Given the description of an element on the screen output the (x, y) to click on. 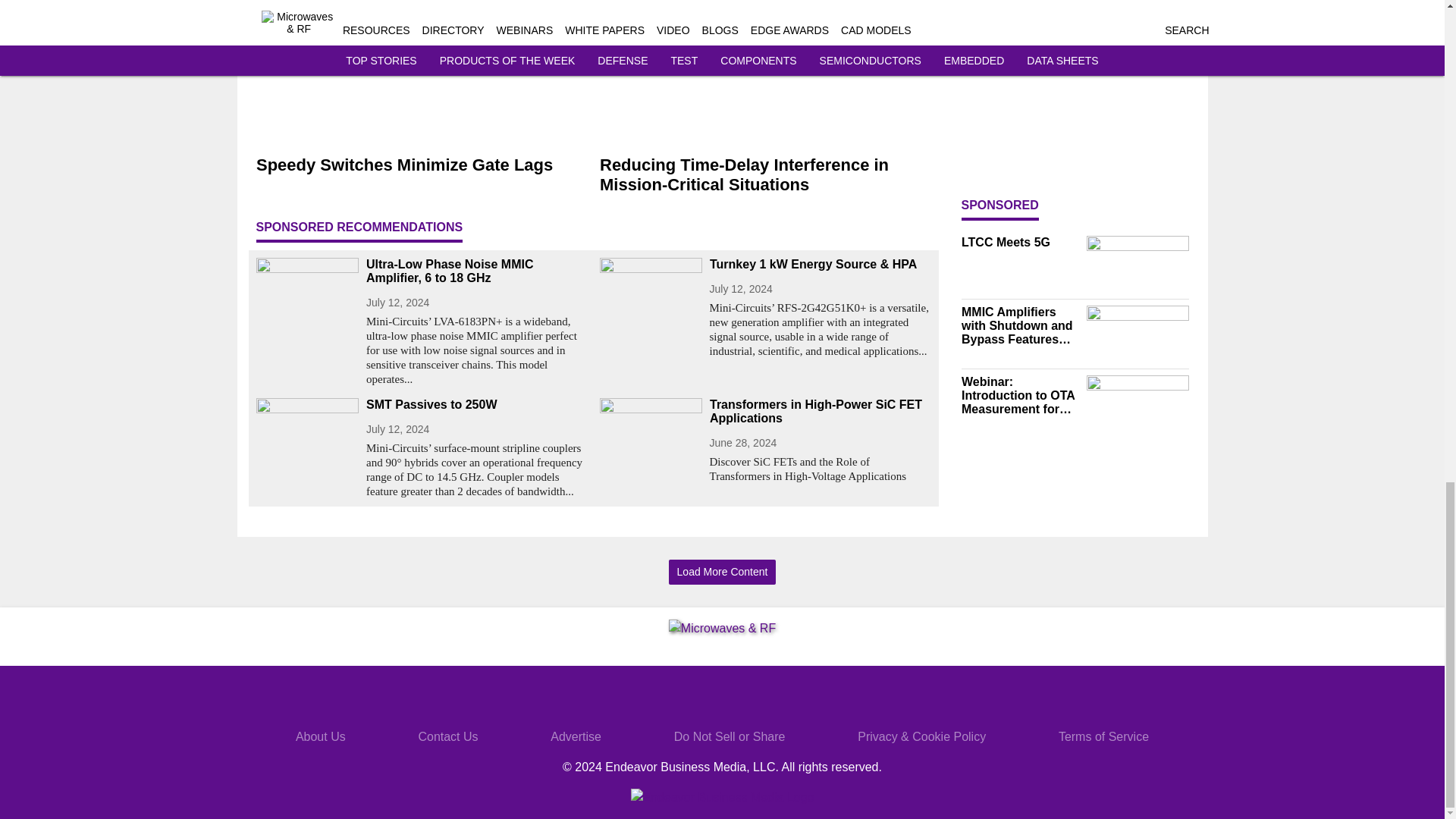
Ultra-Low Phase Noise MMIC Amplifier, 6 to 18 GHz (476, 271)
Speedy Switches Minimize Gate Lags (422, 165)
SMT Passives to 250W (476, 404)
